Given the description of an element on the screen output the (x, y) to click on. 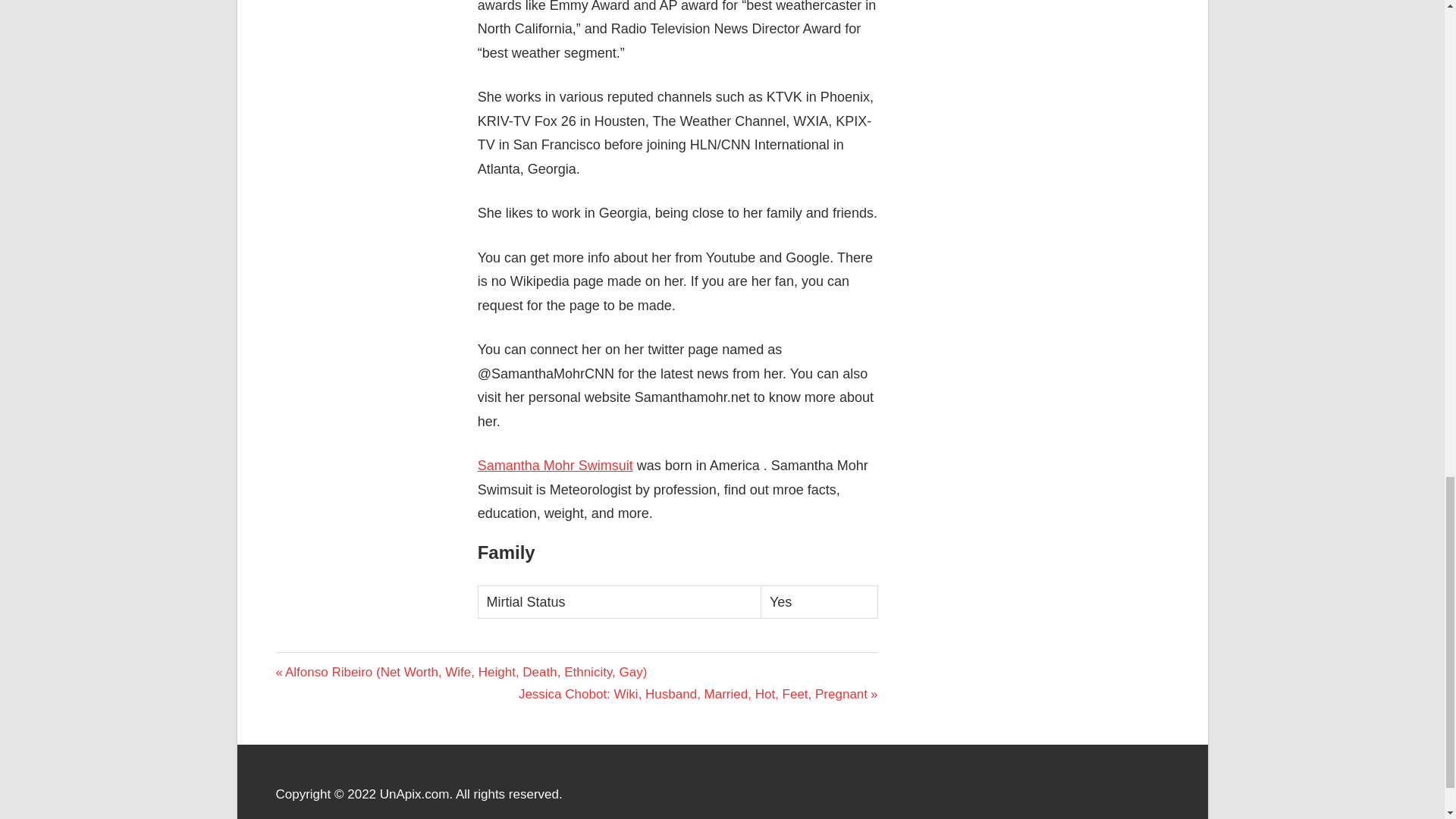
Samantha Mohr Swimsuit (555, 465)
BIOGRAPHIES (321, 665)
BIOGRAPHIES (314, 662)
